Given the description of an element on the screen output the (x, y) to click on. 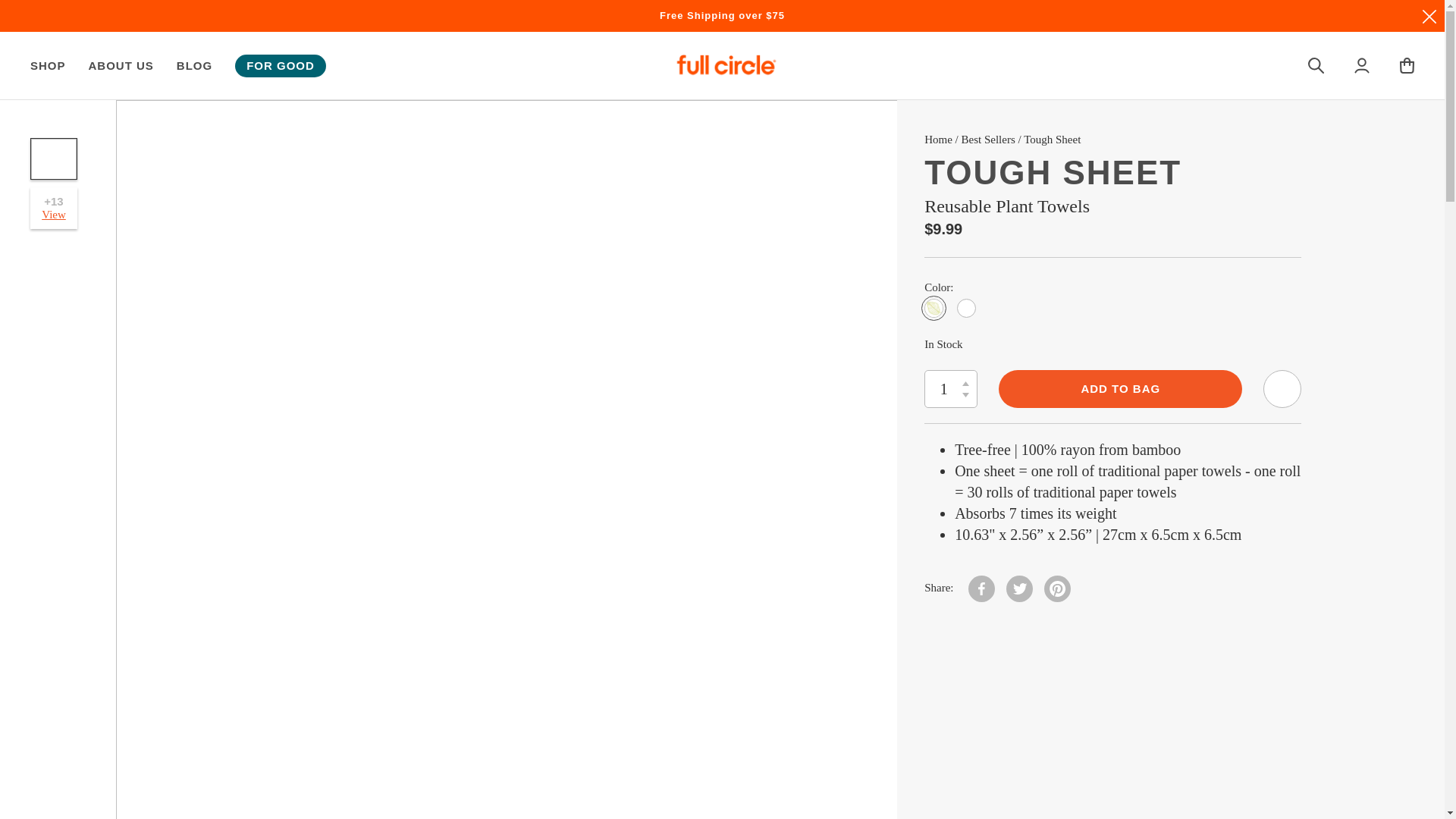
Home (938, 139)
FOR GOOD (280, 65)
ABOUT US (121, 65)
close (1429, 17)
